Given the description of an element on the screen output the (x, y) to click on. 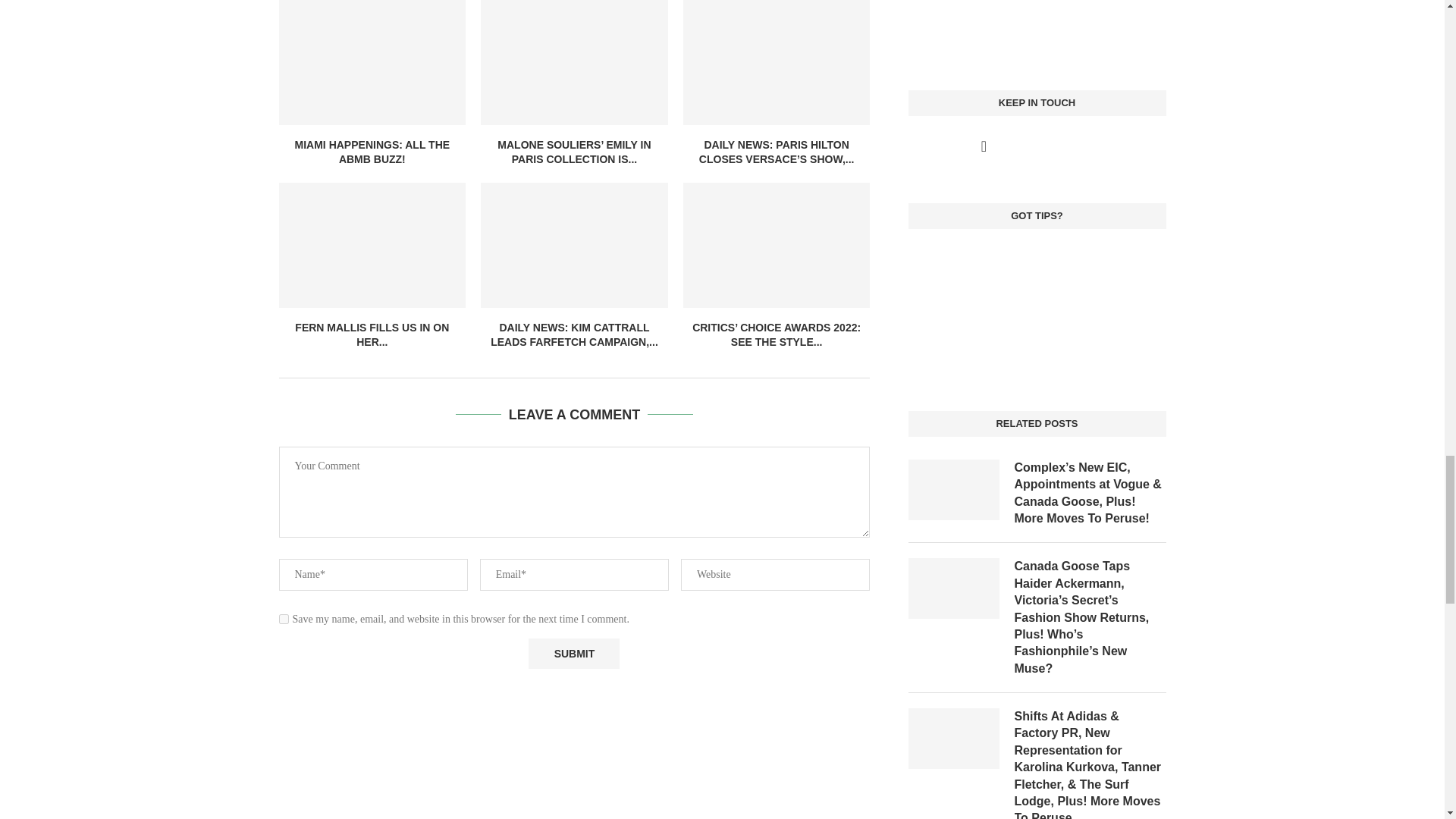
yes (283, 619)
Miami Happenings: All The ABMB Buzz! (372, 62)
Submit (574, 653)
